Given the description of an element on the screen output the (x, y) to click on. 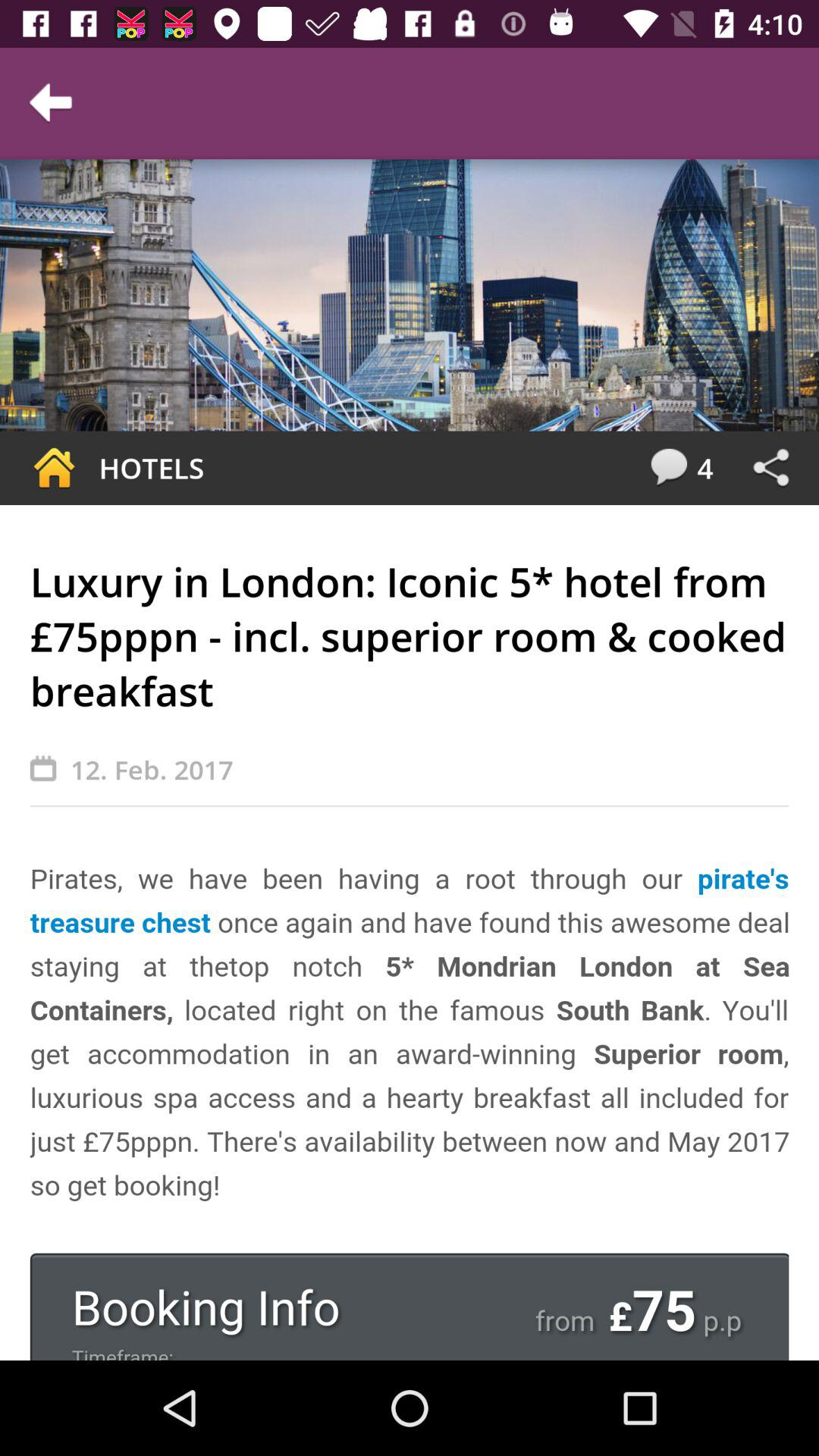
press share icon (770, 468)
